Given the description of an element on the screen output the (x, y) to click on. 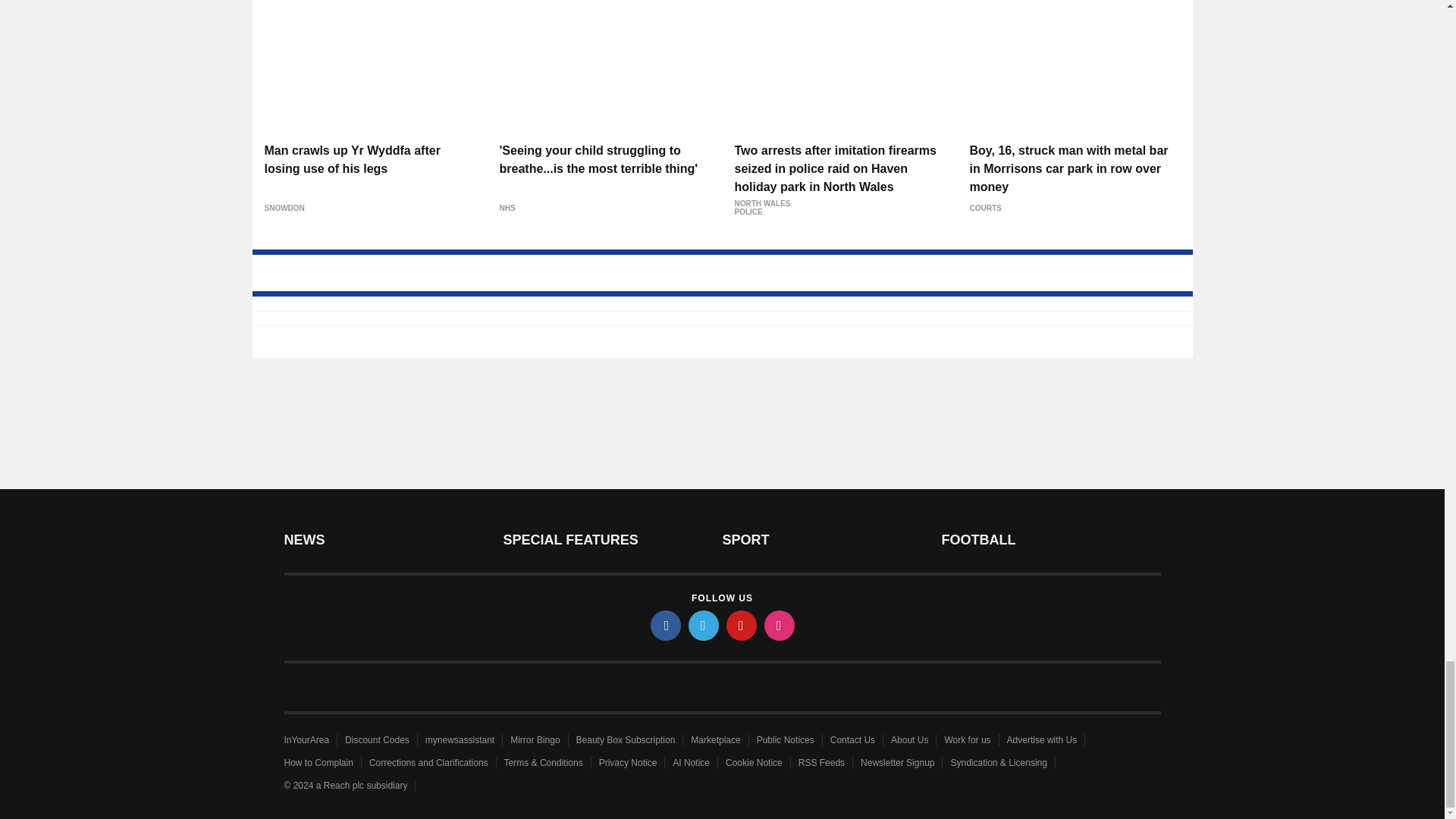
instagram (779, 625)
pinterest (741, 625)
twitter (703, 625)
facebook (665, 625)
